Given the description of an element on the screen output the (x, y) to click on. 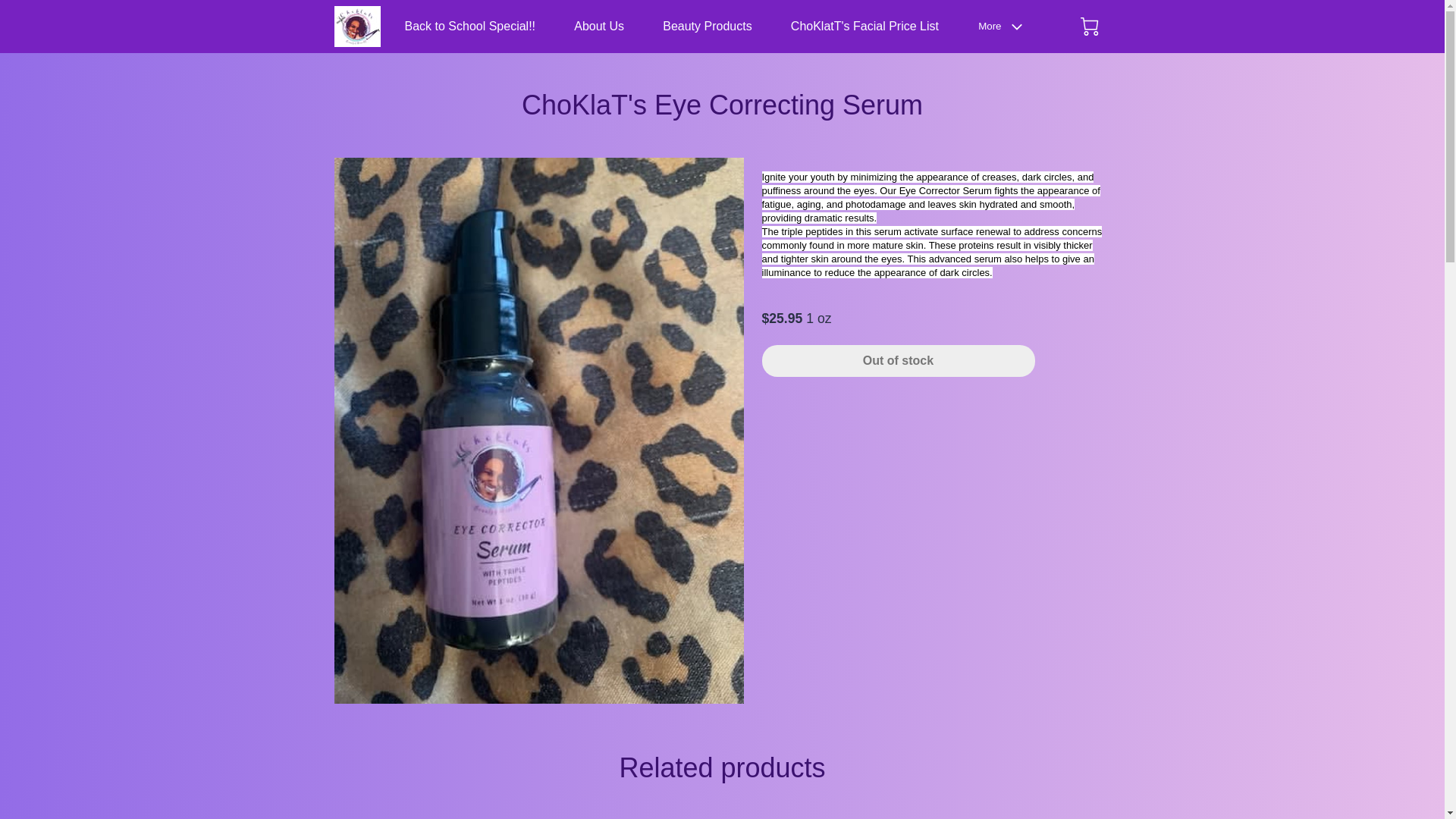
Beauty Products (706, 26)
About Us (598, 26)
More (1004, 26)
0 (1088, 26)
ChoKlatT's Facial Price List (864, 26)
Out of stock (897, 360)
Back to School Special!! (469, 26)
